Given the description of an element on the screen output the (x, y) to click on. 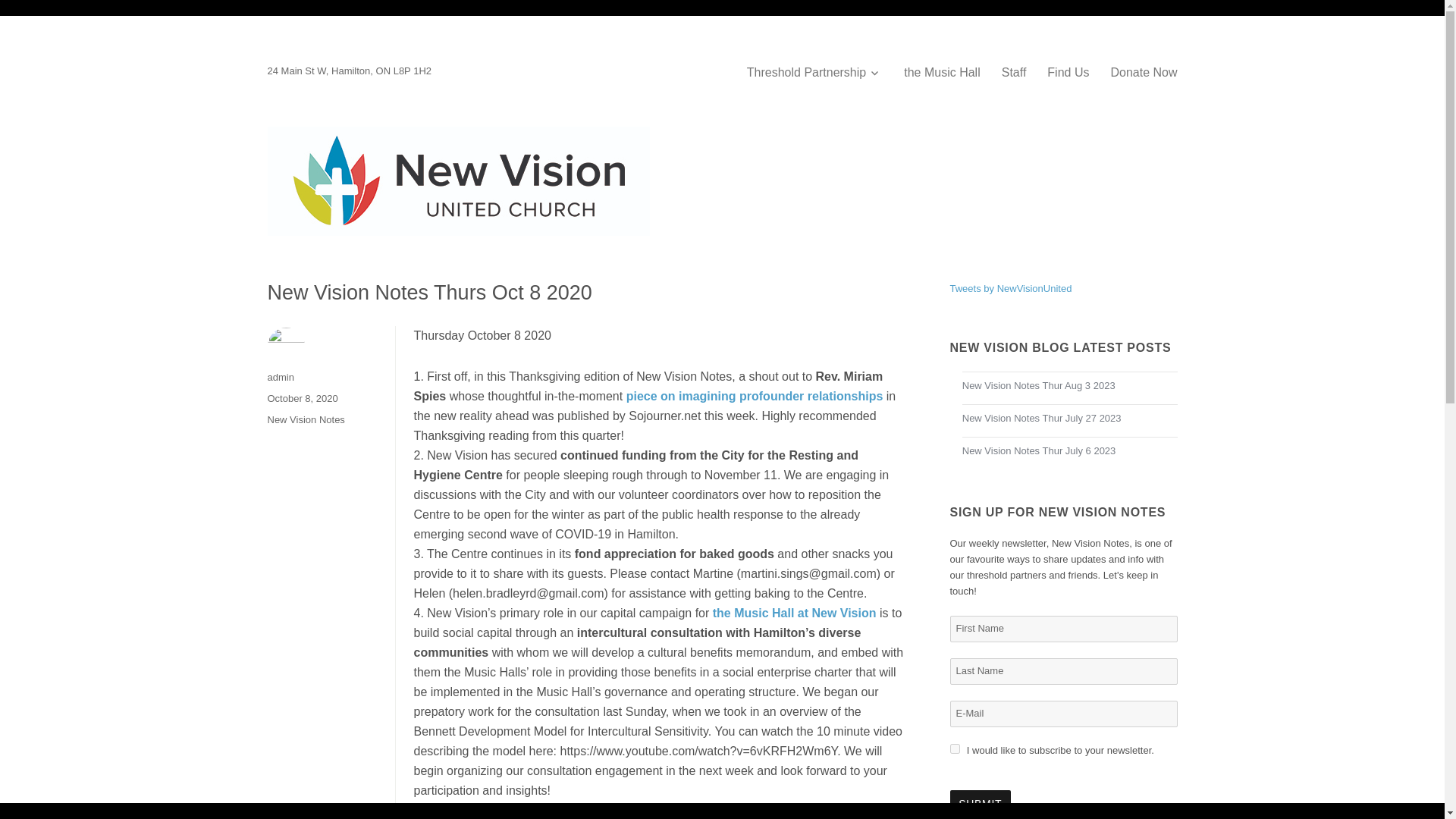
New Vision Notes Thur July 27 2023 (1069, 418)
the Music Hall at New Vision (794, 612)
Find Us (1067, 72)
New Vision Notes (304, 419)
Threshold Partnership (814, 72)
New Vision Notes Thur July 6 2023 (1069, 451)
admin (280, 377)
Submit (979, 804)
Donate Now (1143, 72)
the Music Hall (941, 72)
